Given the description of an element on the screen output the (x, y) to click on. 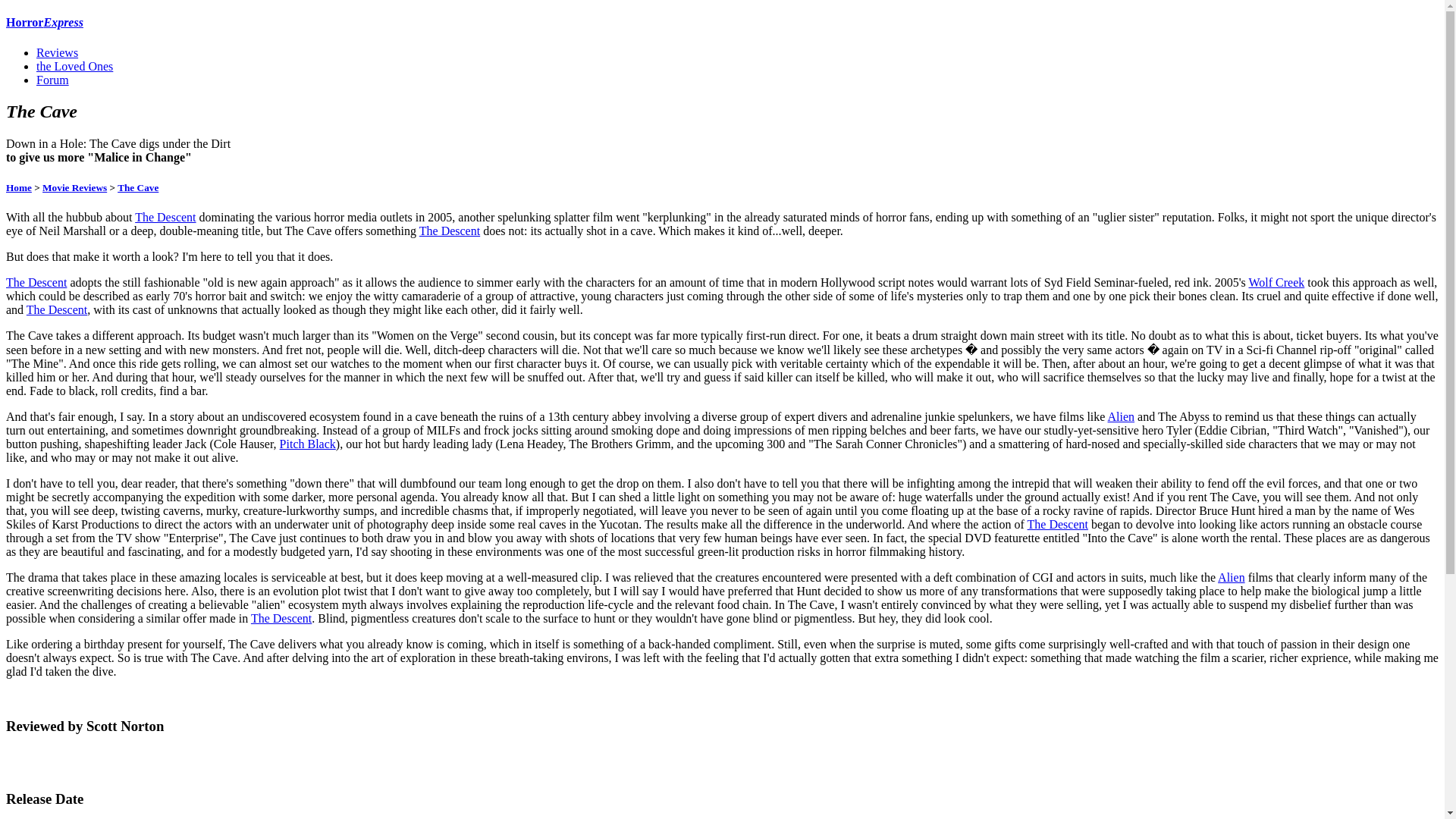
The Descent (280, 617)
Alien (1230, 576)
Reviews (57, 51)
The Descent (449, 230)
The Descent (56, 309)
The Descent (35, 282)
Forum (52, 79)
The Cave (137, 187)
Wolf Creek (1275, 282)
The Descent (165, 216)
Movie Reviews (74, 187)
The Descent (1057, 523)
Alien (1121, 416)
the Loved Ones (74, 65)
HorrorExpress (43, 21)
